Given the description of an element on the screen output the (x, y) to click on. 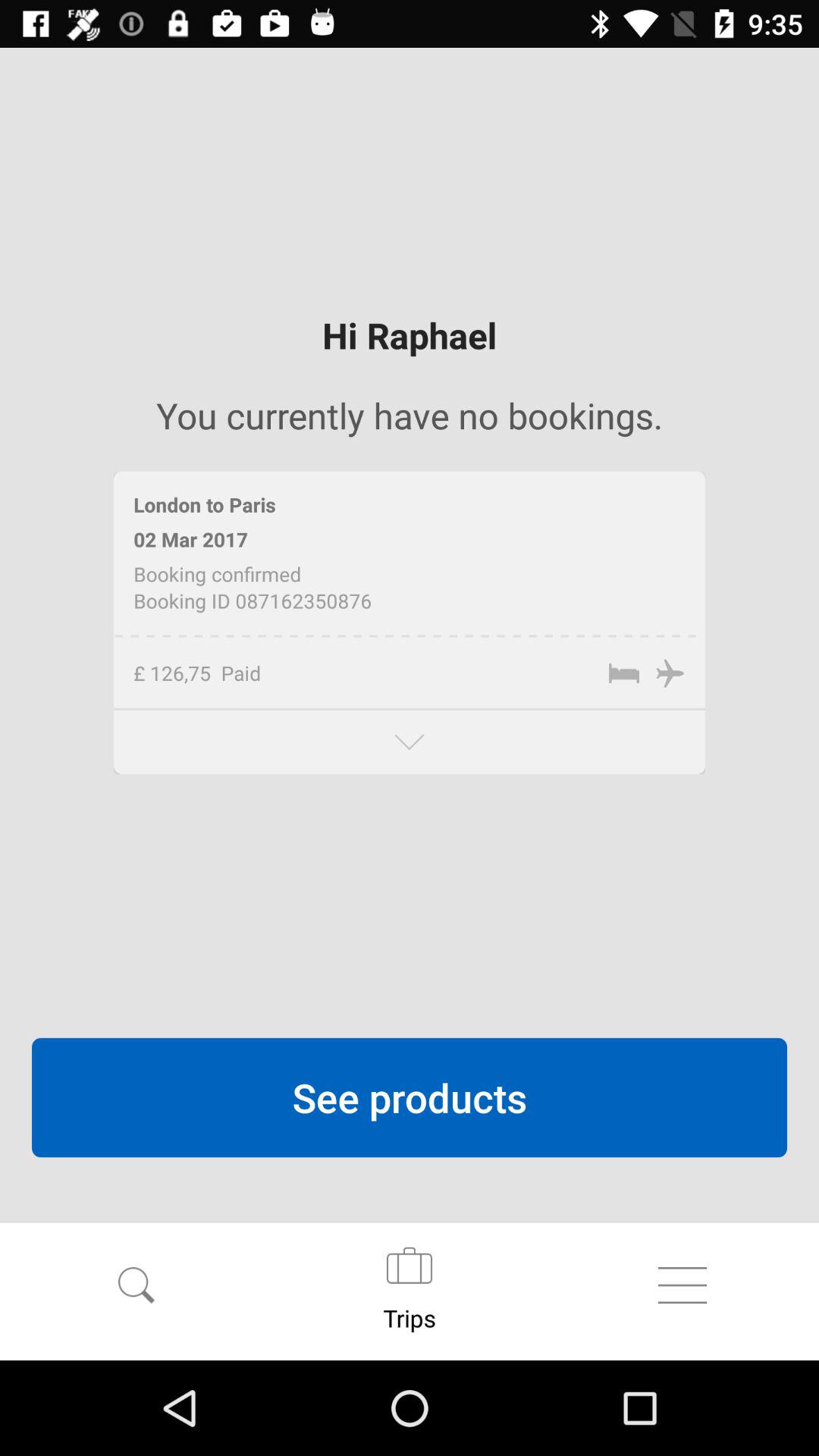
turn off see products button (409, 1097)
